Given the description of an element on the screen output the (x, y) to click on. 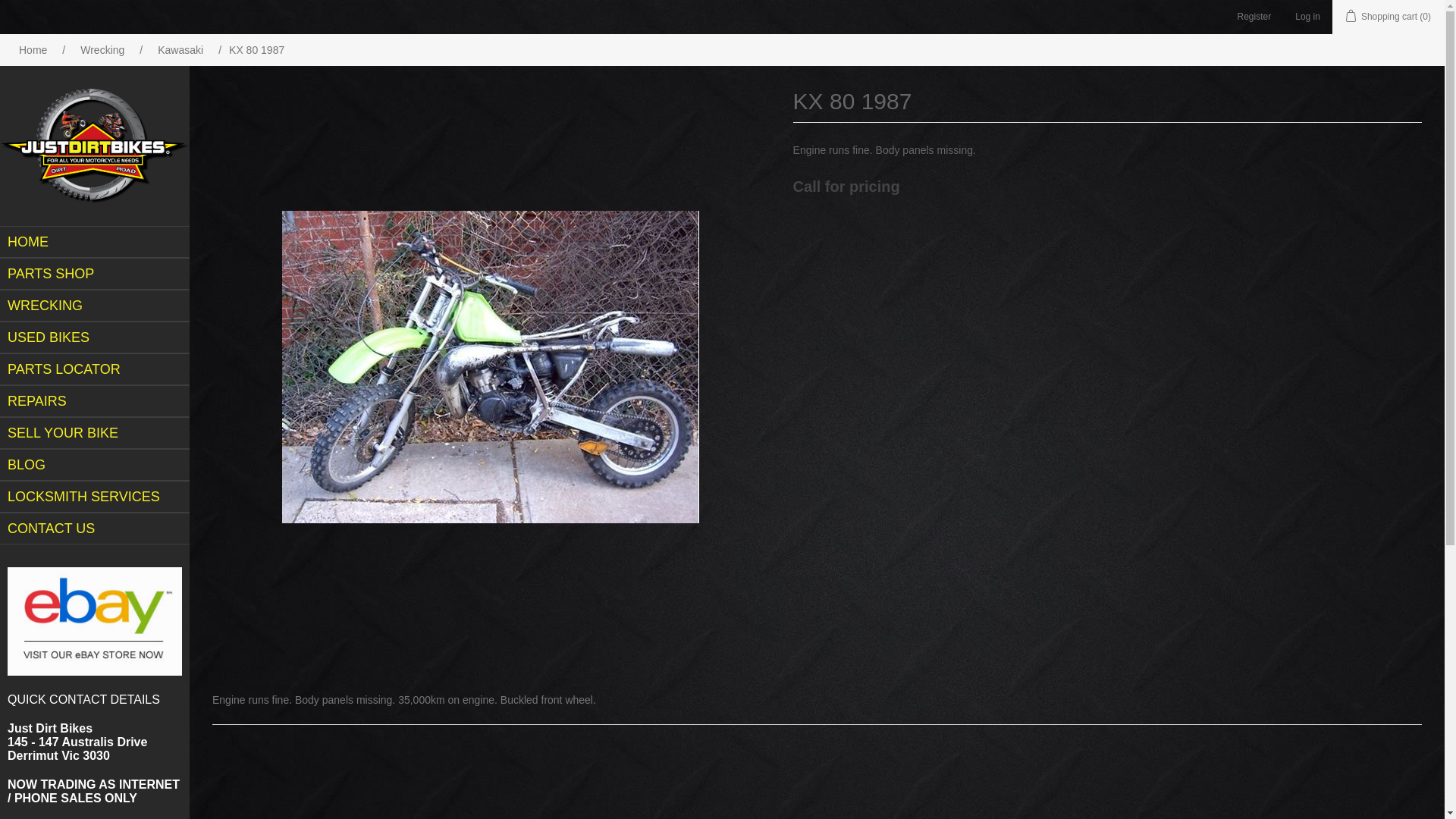
Shopping cart (0) Element type: text (1388, 17)
USED BIKES Element type: text (94, 337)
WRECKING Element type: text (94, 305)
Wrecking Element type: text (102, 49)
Log in Element type: text (1307, 17)
LOCKSMITH SERVICES Element type: text (94, 496)
Picture of KX 80 1987 Element type: hover (490, 366)
PARTS SHOP Element type: text (94, 273)
Home Element type: text (32, 49)
HOME Element type: text (94, 241)
PARTS LOCATOR Element type: text (94, 369)
BLOG Element type: text (94, 464)
Register Element type: text (1254, 17)
REPAIRS Element type: text (94, 401)
SELL YOUR BIKE Element type: text (94, 432)
CONTACT US Element type: text (94, 528)
Kawasaki Element type: text (180, 49)
